Given the description of an element on the screen output the (x, y) to click on. 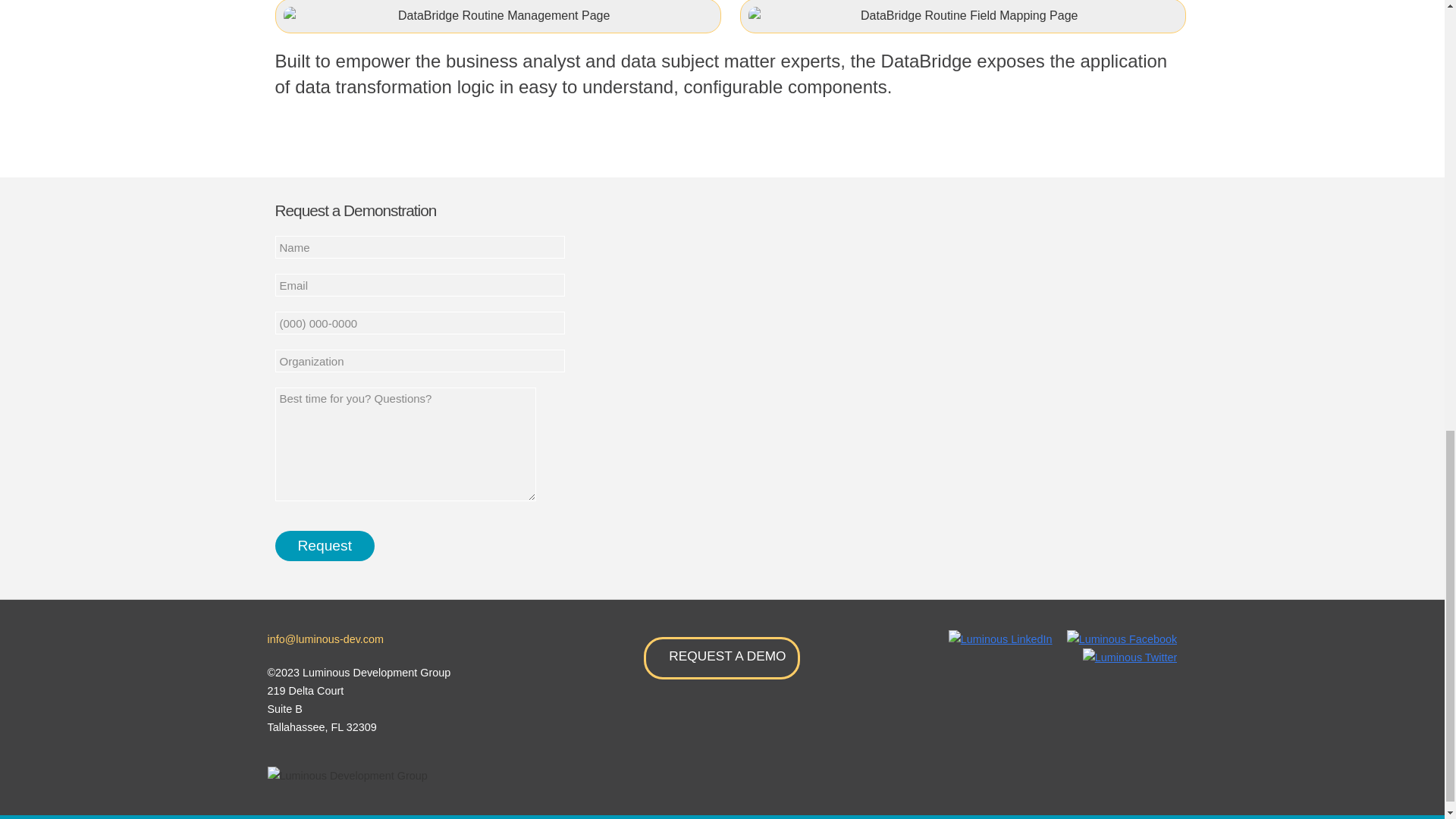
REQUEST A DEMO (721, 658)
Request (324, 545)
Request (324, 545)
